Given the description of an element on the screen output the (x, y) to click on. 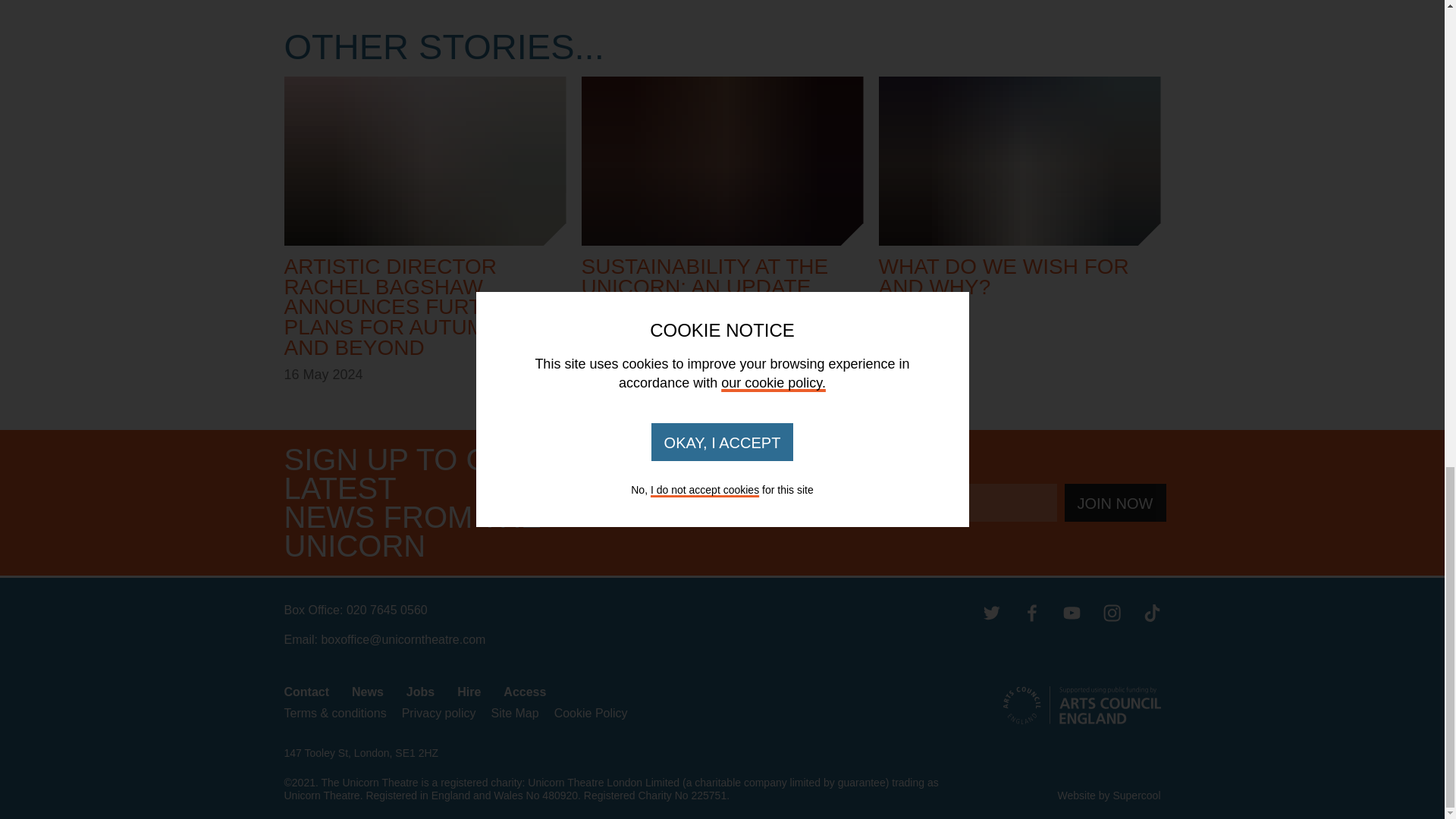
Instagram (1110, 611)
Hire (468, 691)
Share via email (531, 1)
Facebook (1030, 611)
Box Office: 020 7645 0560 (621, 609)
Twitter (991, 611)
Contact (306, 691)
Access (524, 691)
JOIN NOW (1115, 502)
YouTube (1071, 611)
Share on facebook (400, 1)
Jobs (419, 691)
News (368, 691)
Share on Whatsapp (487, 1)
